Given the description of an element on the screen output the (x, y) to click on. 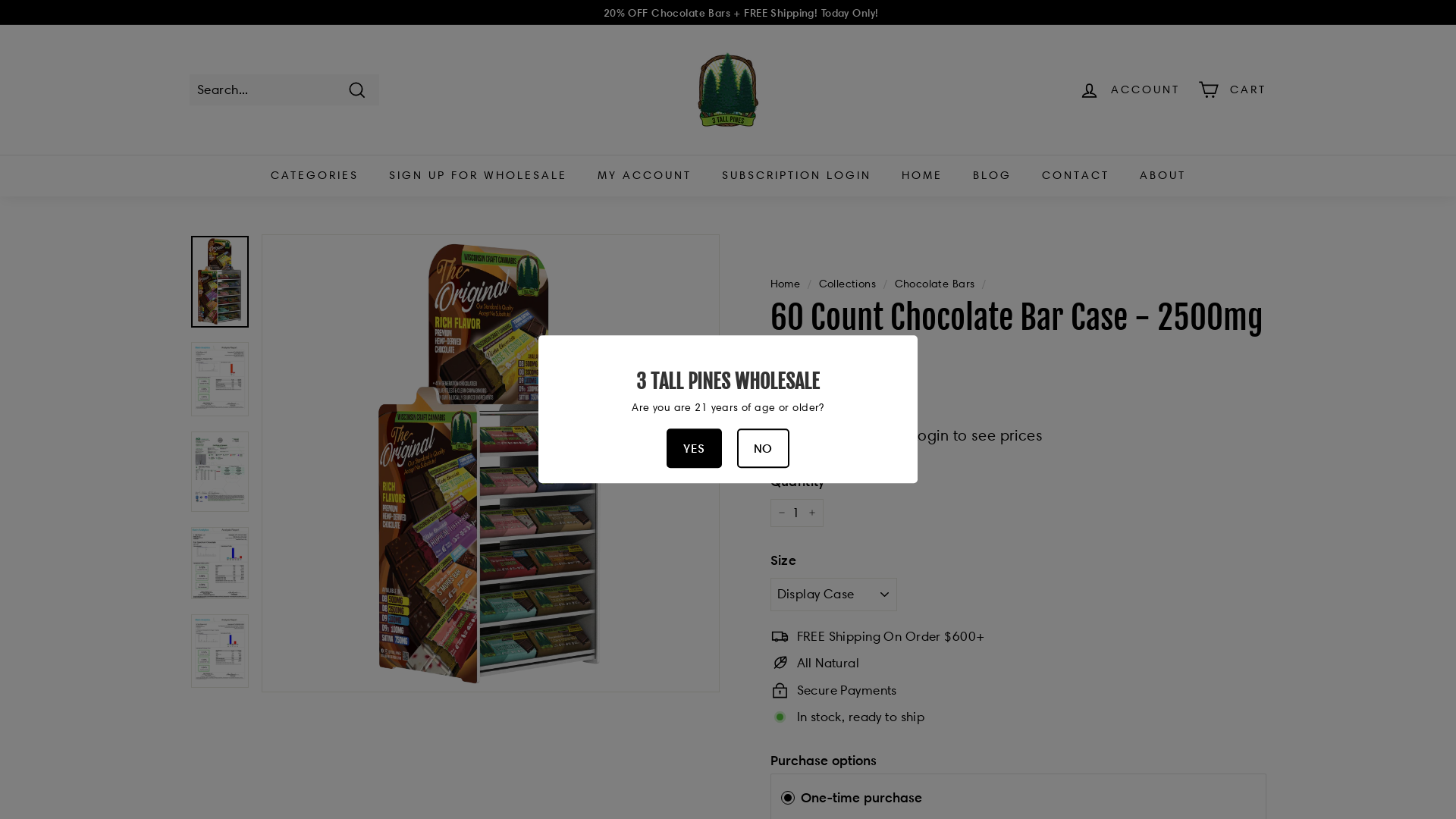
+ Element type: text (811, 512)
SIGN UP FOR WHOLESALE Element type: text (477, 175)
Skip to content Element type: text (0, 0)
HOME Element type: text (921, 175)
SUBSCRIPTION LOGIN Element type: text (796, 175)
Login to see prices Element type: text (836, 435)
CONTACT Element type: text (1075, 175)
Collections Element type: text (847, 283)
MY ACCOUNT Element type: text (644, 175)
YES Element type: text (693, 448)
ACCOUNT Element type: text (1129, 89)
ABOUT Element type: text (1161, 175)
NO Element type: text (763, 448)
BLOG Element type: text (991, 175)
Home Element type: text (785, 283)
Chocolate Bars Element type: text (934, 283)
CATEGORIES Element type: text (313, 175)
Login to see prices Element type: text (977, 435)
